Given the description of an element on the screen output the (x, y) to click on. 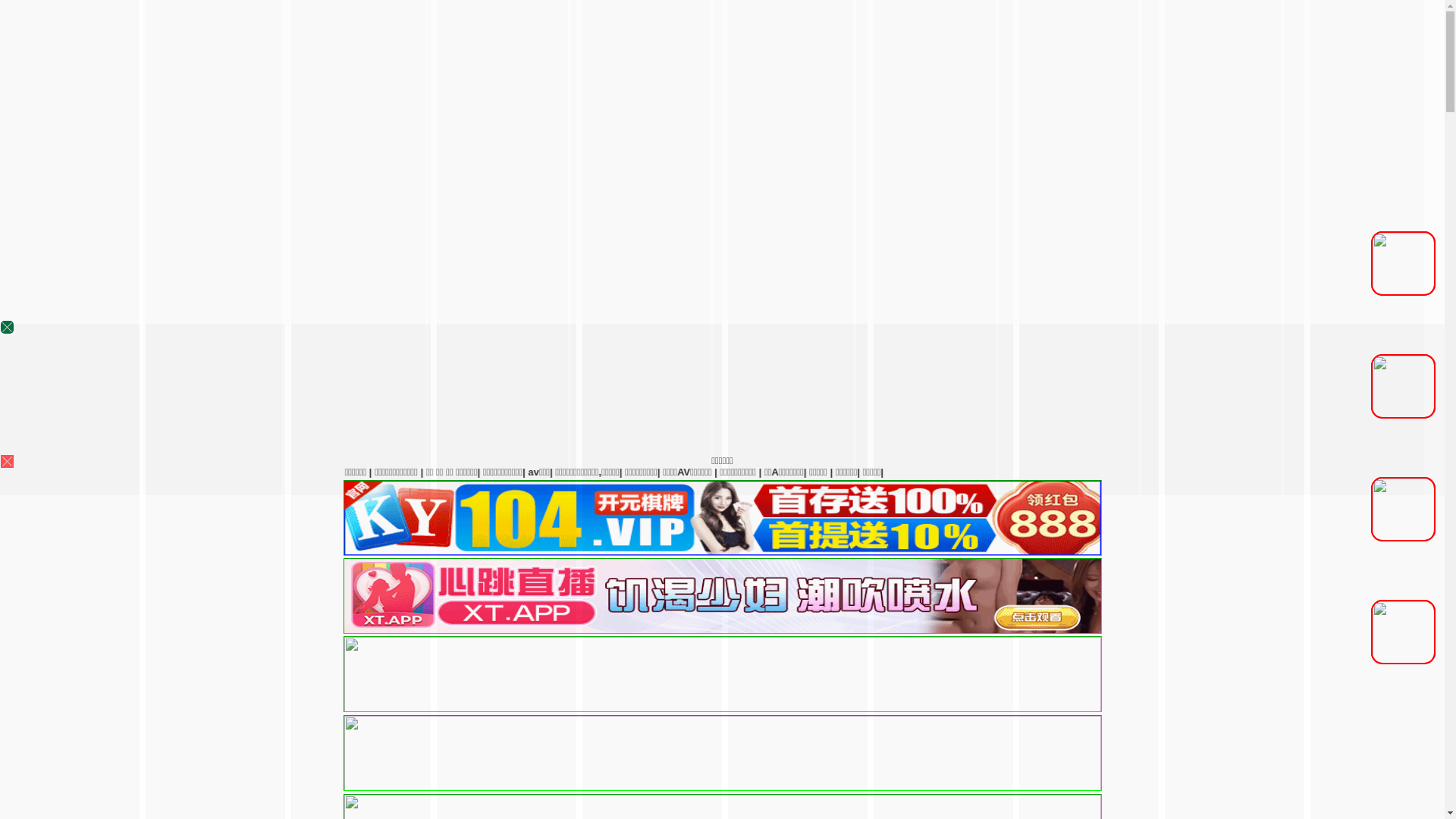
| Element type: text (1302, 471)
| Element type: text (925, 471)
| Element type: text (964, 471)
6686 Element type: hover (721, 669)
| Element type: text (1108, 471)
| Element type: text (1372, 471)
| Element type: text (1245, 471)
| Element type: text (879, 471)
| Element type: text (1063, 471)
| Element type: text (1196, 471)
| Element type: text (841, 471)
| Element type: text (1336, 471)
| Element type: text (1002, 471)
| Element type: text (1155, 471)
| Element type: text (816, 471)
6686 Element type: hover (721, 748)
| Element type: text (1425, 471)
6686 Element type: hover (721, 552)
